Given the description of an element on the screen output the (x, y) to click on. 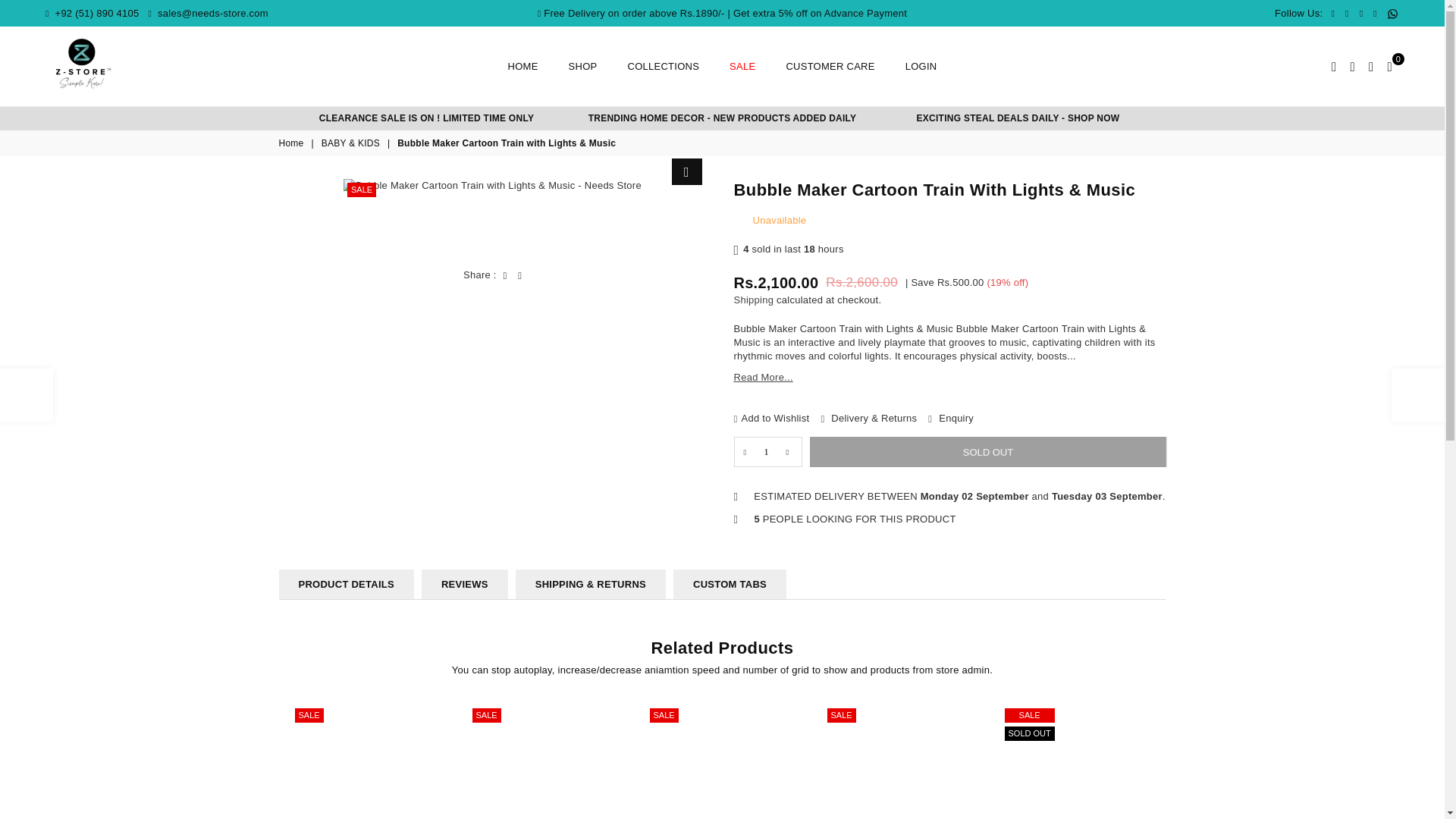
NEEDS STORE (82, 64)
Instagram (1374, 13)
Needs Store on Facebook (1331, 13)
SHOP (582, 66)
Twitter (1346, 13)
Previous Product (26, 394)
Needs Store on Whatsapp (1392, 13)
Facebook (1331, 13)
Whatsapp (1392, 13)
Needs Store on Instagram (1374, 13)
